Given the description of an element on the screen output the (x, y) to click on. 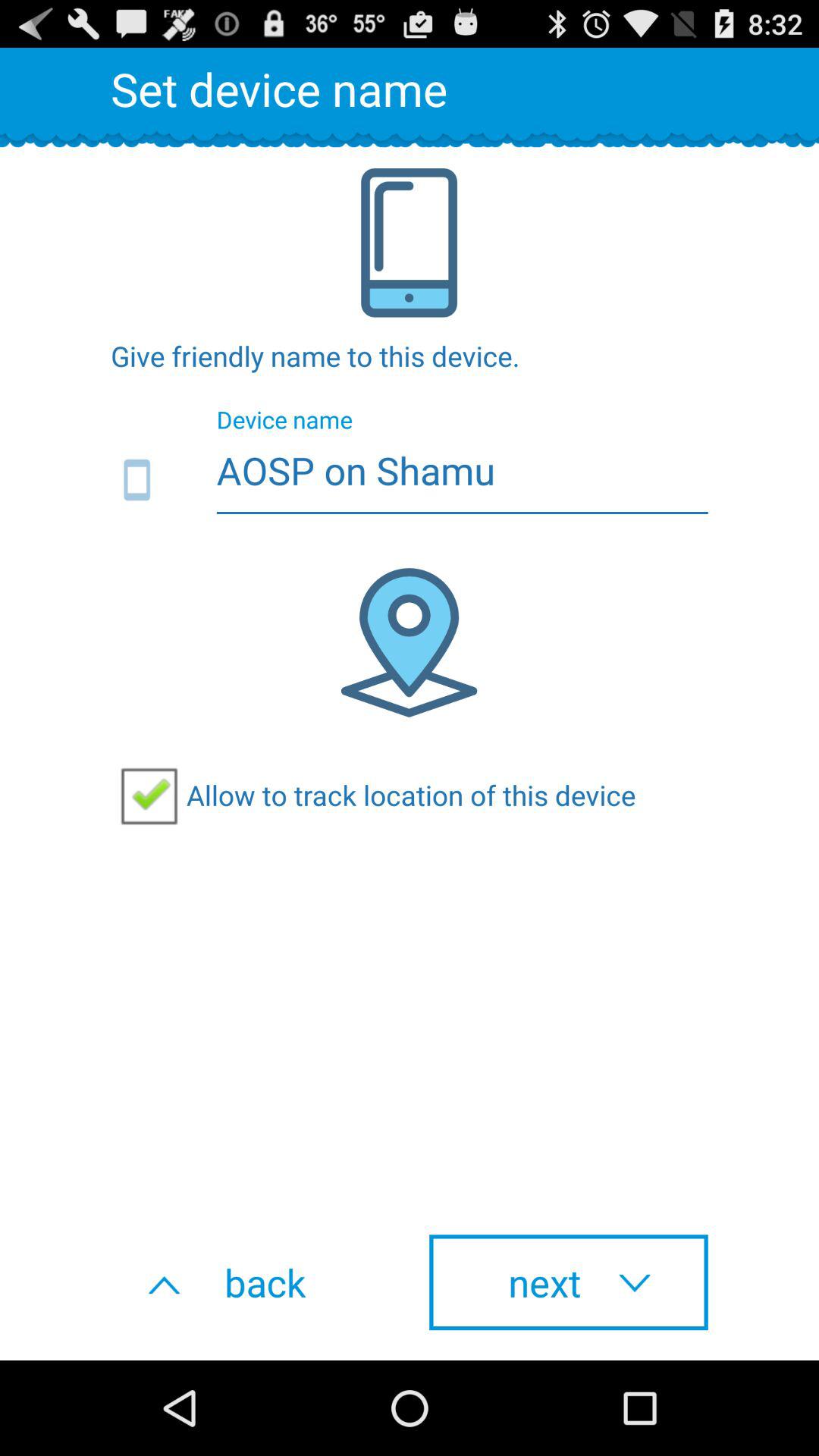
flip until the allow to track (372, 794)
